Given the description of an element on the screen output the (x, y) to click on. 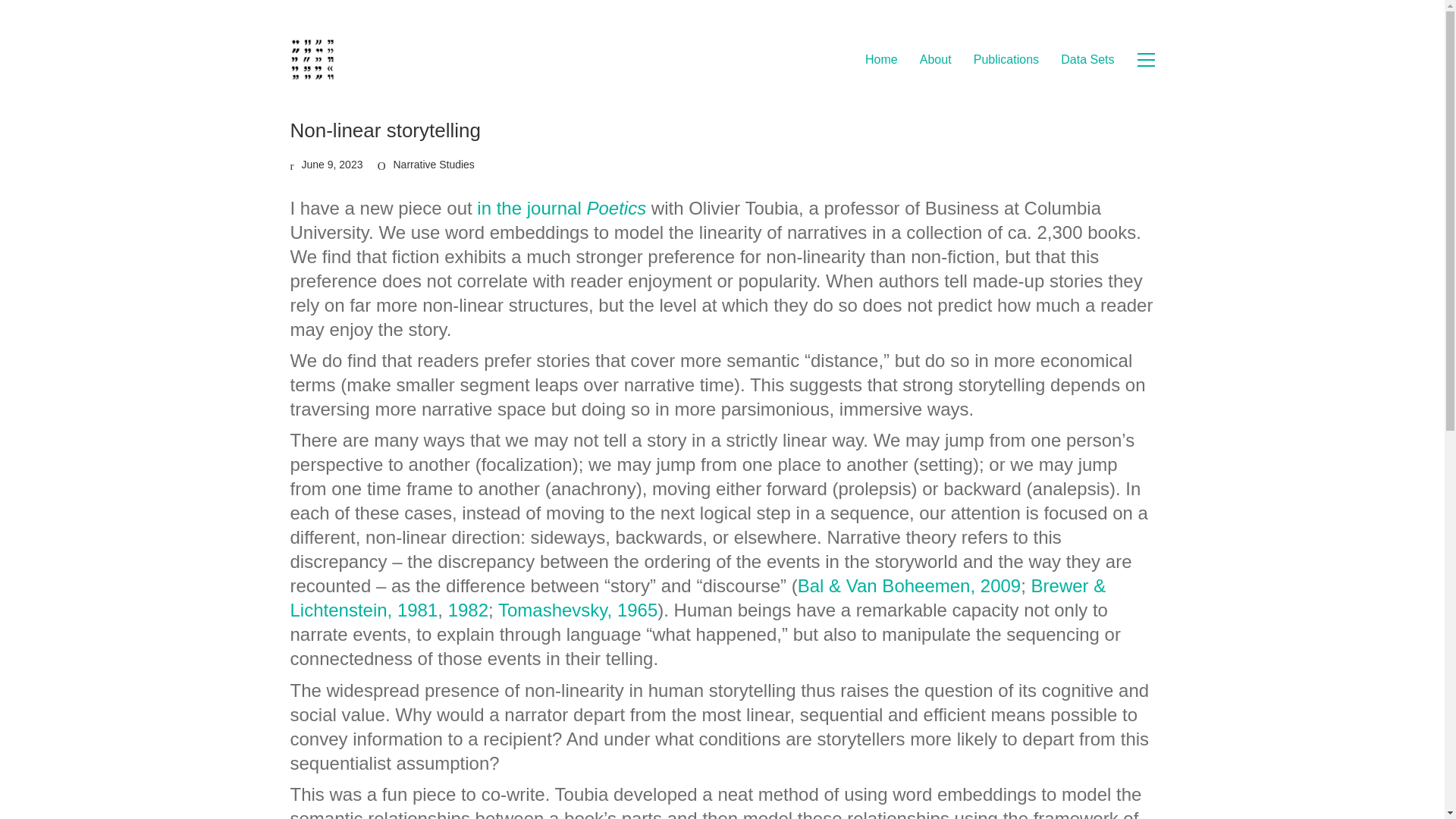
Tomashevsky, 1965 (577, 609)
Publications (1006, 59)
Narrative Studies (433, 164)
1982 (467, 609)
in the journal Poetics (561, 208)
Home (881, 59)
About (936, 59)
Data Sets (1087, 59)
